Given the description of an element on the screen output the (x, y) to click on. 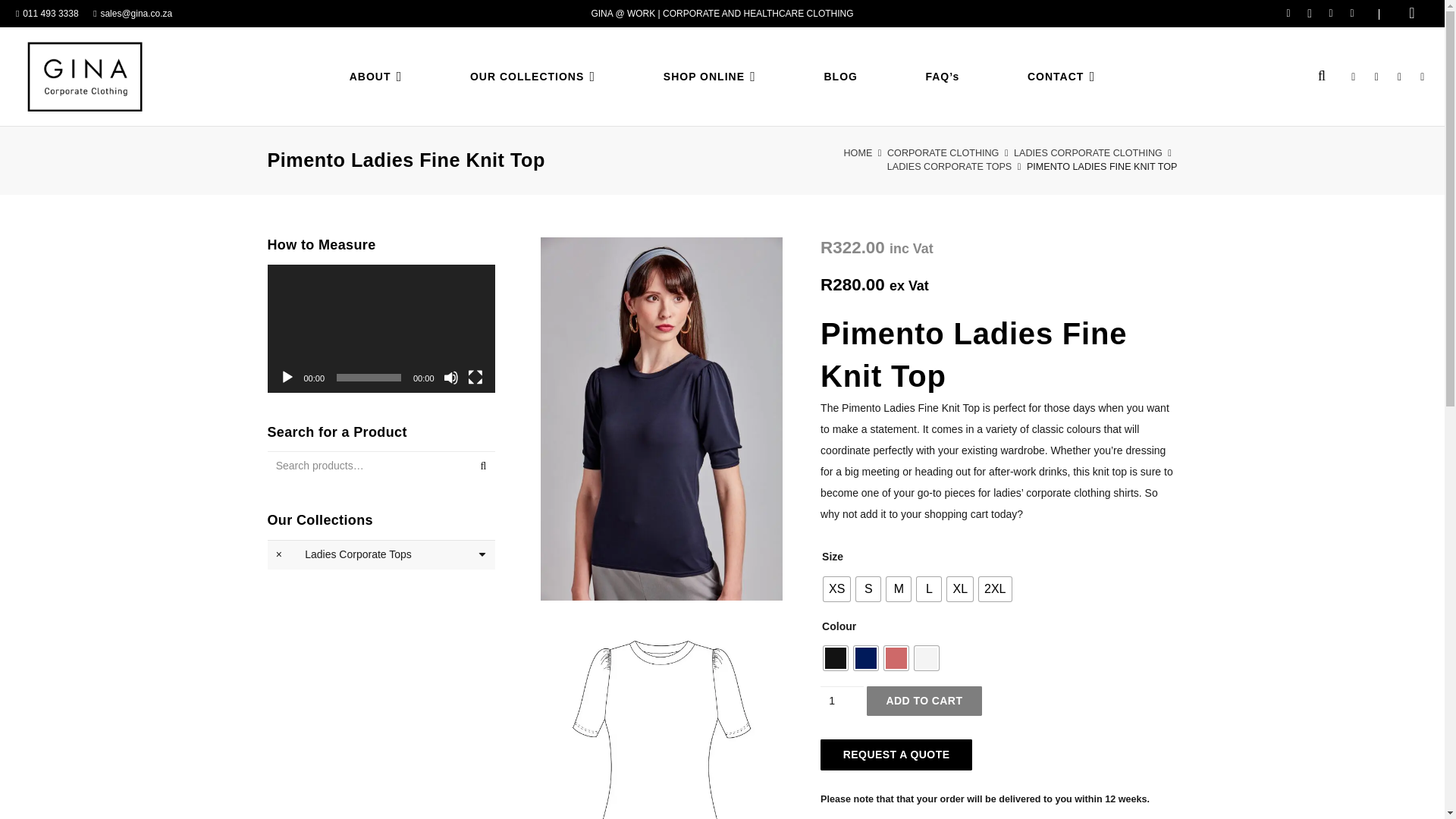
Instagram (1309, 13)
Pimento Drawing Large (660, 717)
1 (842, 700)
Bon Bon Nankin Navy (865, 658)
M (898, 589)
Bon Bon Black (835, 658)
Bon Bon Rose (895, 658)
S (868, 589)
0 (1411, 13)
Request A Quote (896, 754)
Facebook (1288, 13)
Qty (842, 700)
ABOUT (376, 76)
Bon Bon White (926, 658)
LinkedIn (1330, 13)
